Given the description of an element on the screen output the (x, y) to click on. 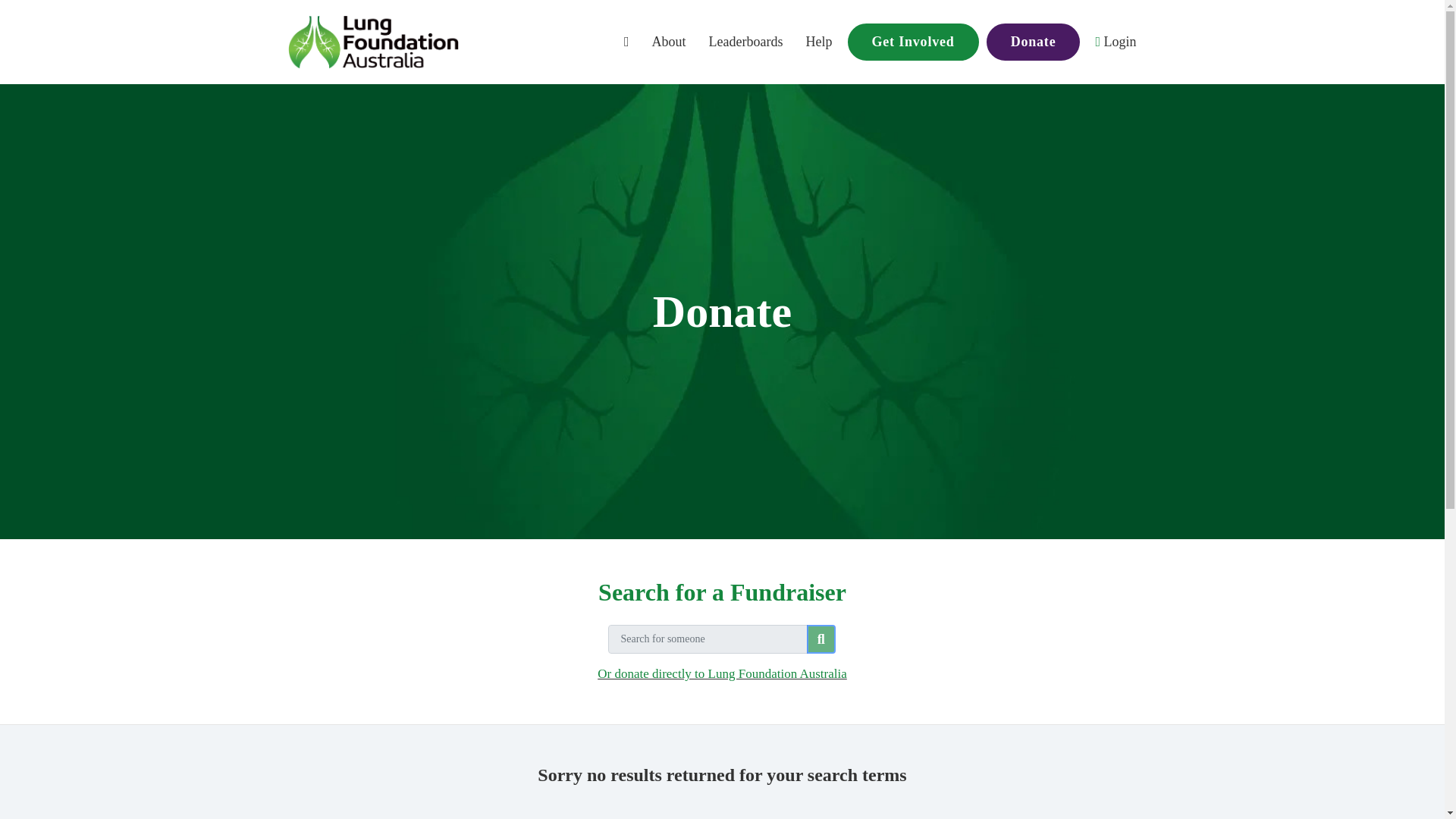
Leaderboards (745, 41)
Help (819, 41)
Login (1115, 41)
Or donate directly to Lung Foundation Australia (721, 673)
About (668, 41)
Donate (1033, 41)
Get Involved (912, 41)
